Given the description of an element on the screen output the (x, y) to click on. 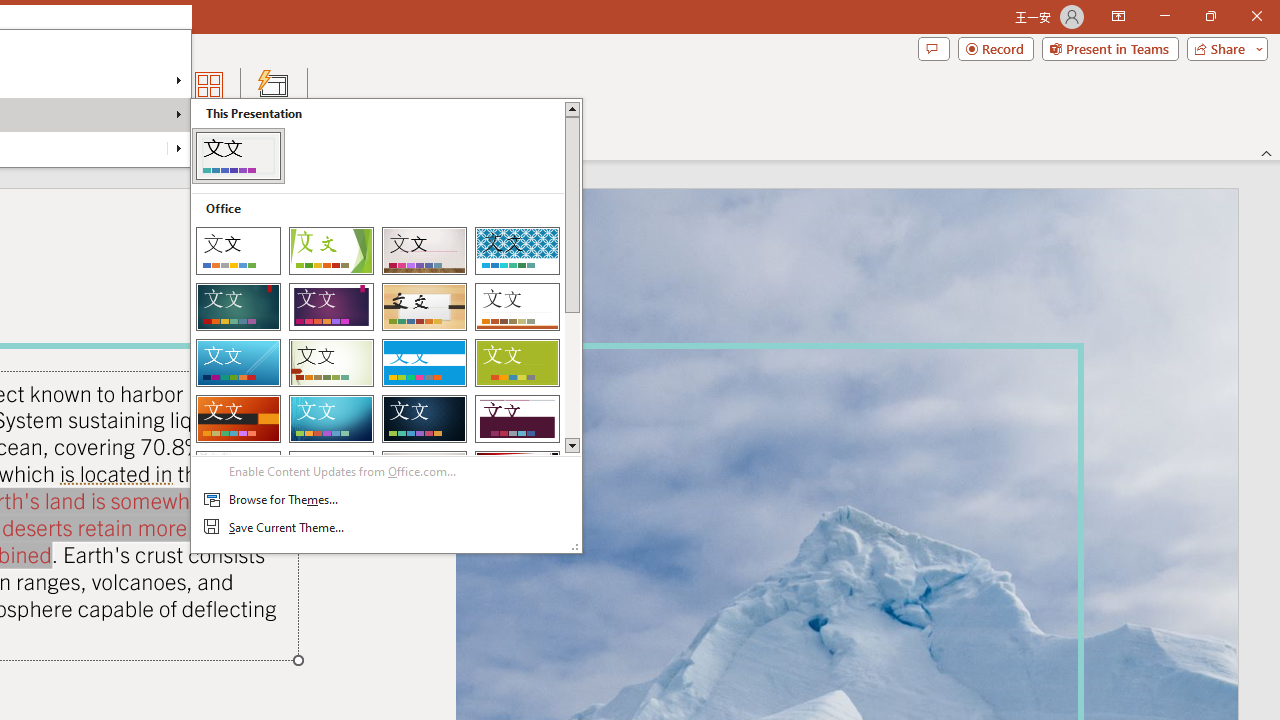
Text Outline (178, 148)
Select (61, 124)
